Given the description of an element on the screen output the (x, y) to click on. 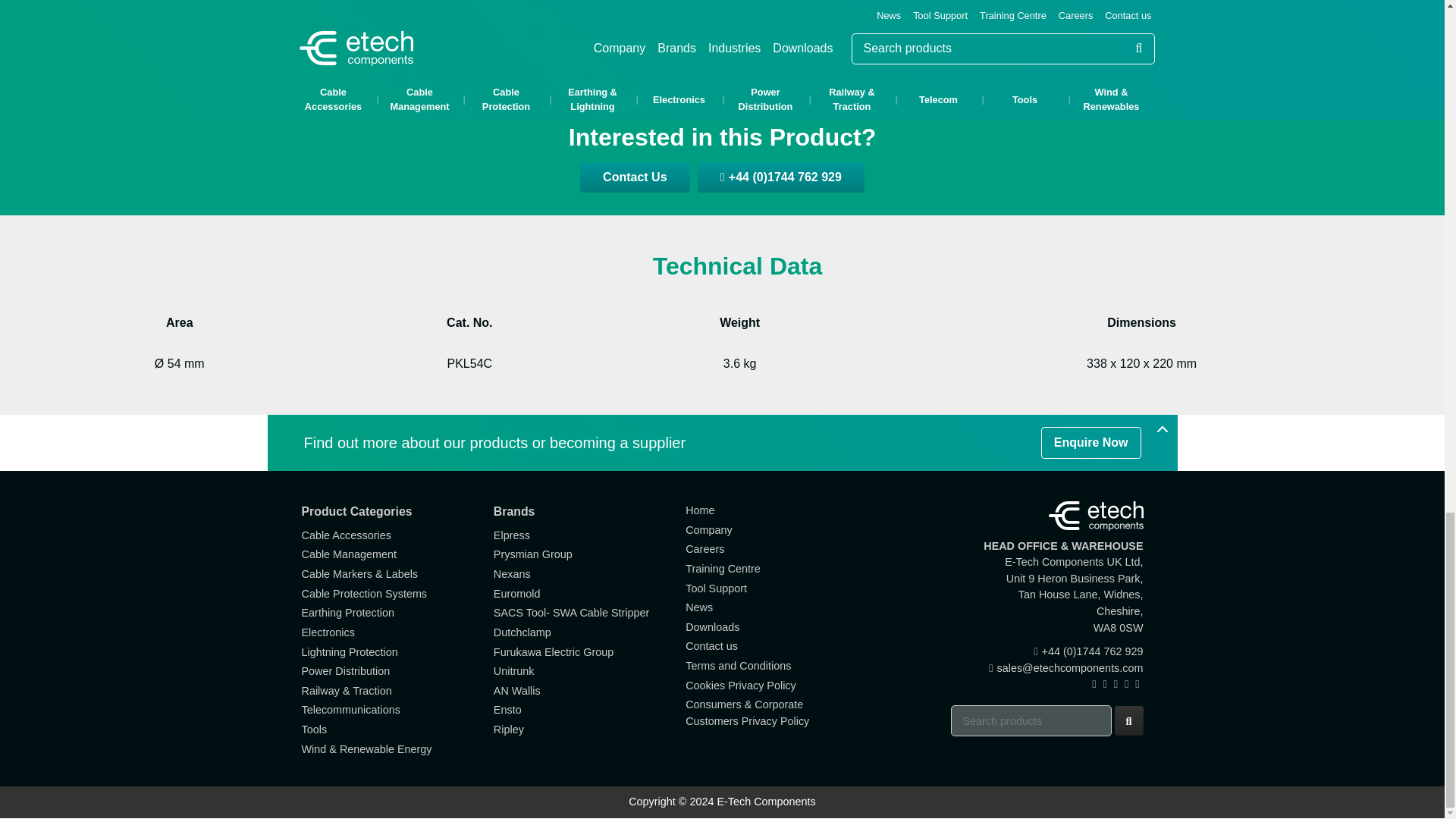
Search products (1031, 720)
Download PDF: Elpress PKL54C Battery Powered Cutting Tool (722, 46)
Contact us (633, 177)
